Given the description of an element on the screen output the (x, y) to click on. 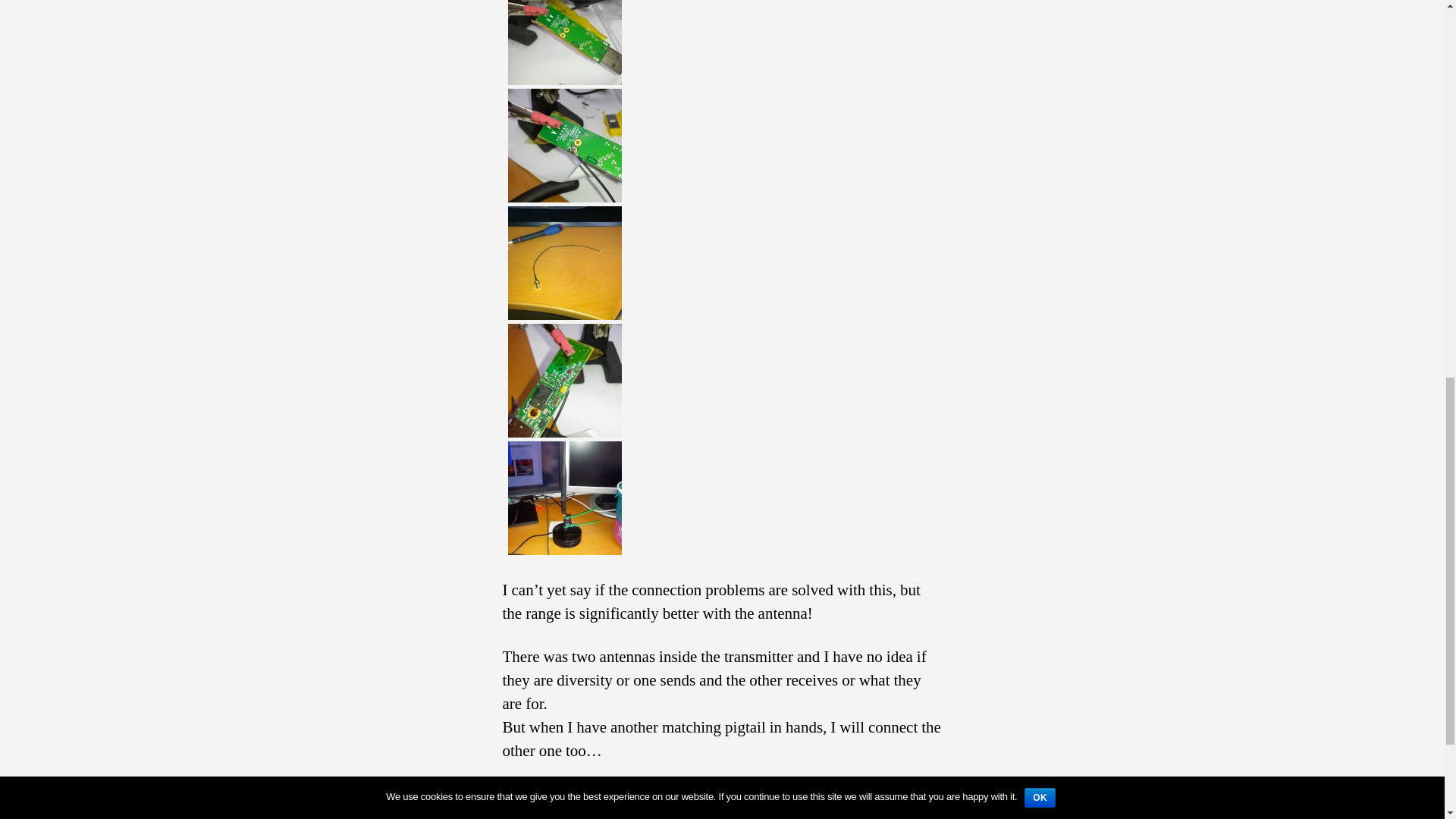
Headset (678, 802)
2.4 Ghz (543, 802)
Antenna (592, 802)
G930 (634, 802)
